Given the description of an element on the screen output the (x, y) to click on. 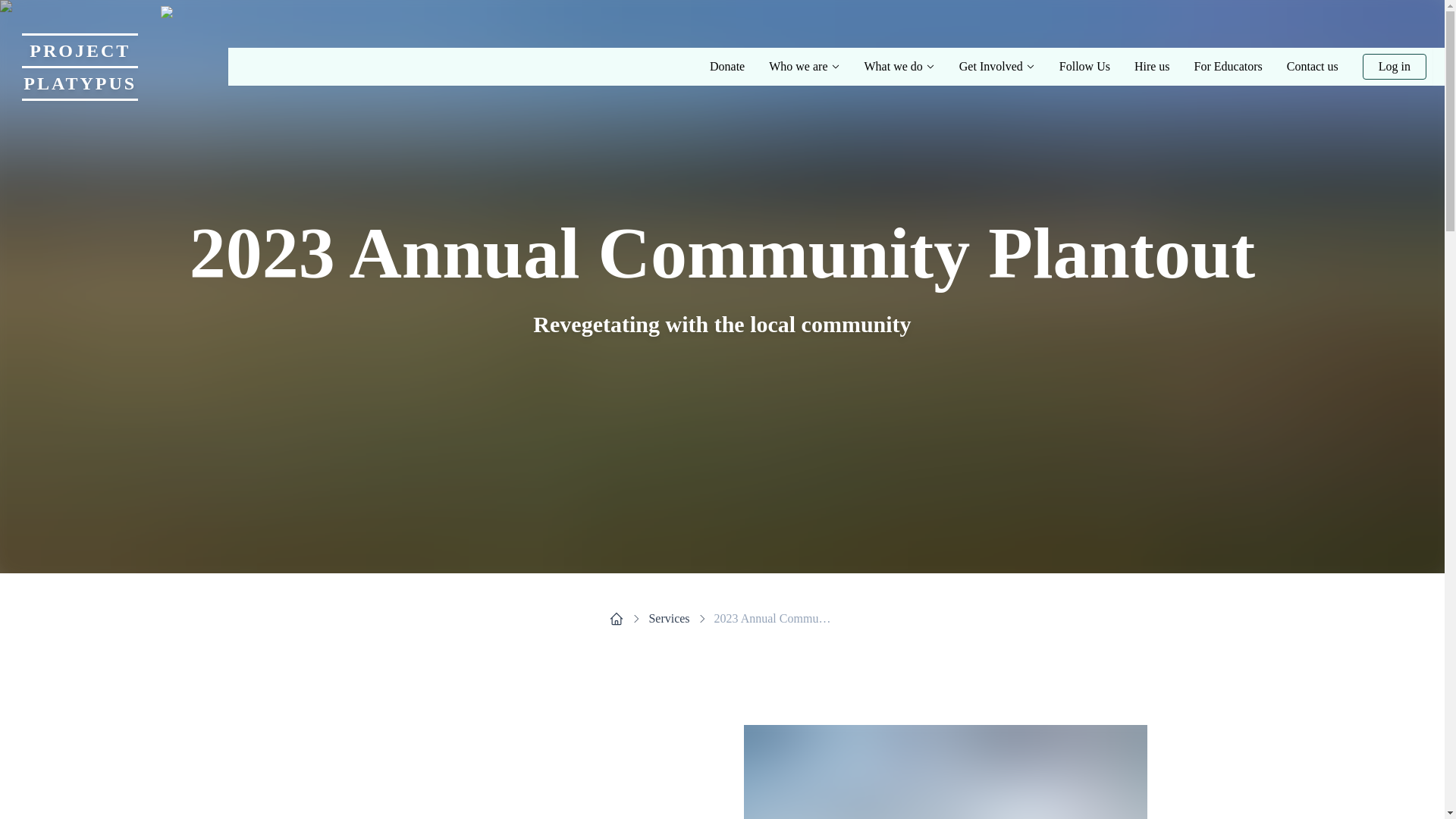
Follow Us (1084, 66)
Our Projects (930, 96)
What we do (899, 66)
Donate (727, 66)
Services (667, 618)
Who we are (804, 66)
Hire us (1152, 66)
For Educators (1227, 66)
2023 Annual Community Plantout (774, 618)
Join a Landcare (1026, 96)
Get Involved (997, 66)
Log in (120, 66)
Our Story (1394, 66)
Contact us (835, 96)
